Given the description of an element on the screen output the (x, y) to click on. 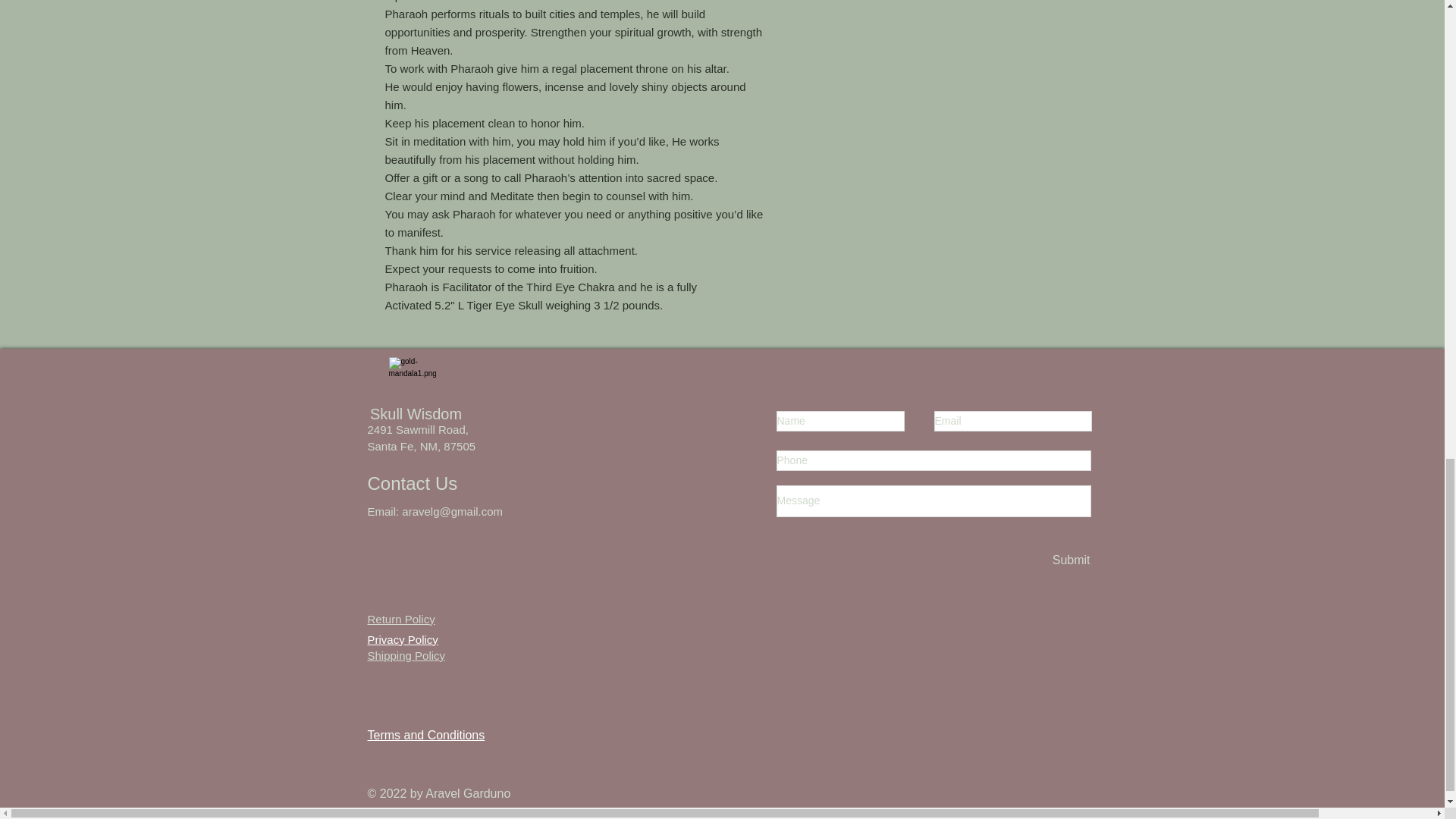
Submit (1069, 560)
Privacy Policy (402, 632)
Return Policy (399, 618)
Shipping Policy (405, 655)
Terms and Conditions (425, 735)
